Given the description of an element on the screen output the (x, y) to click on. 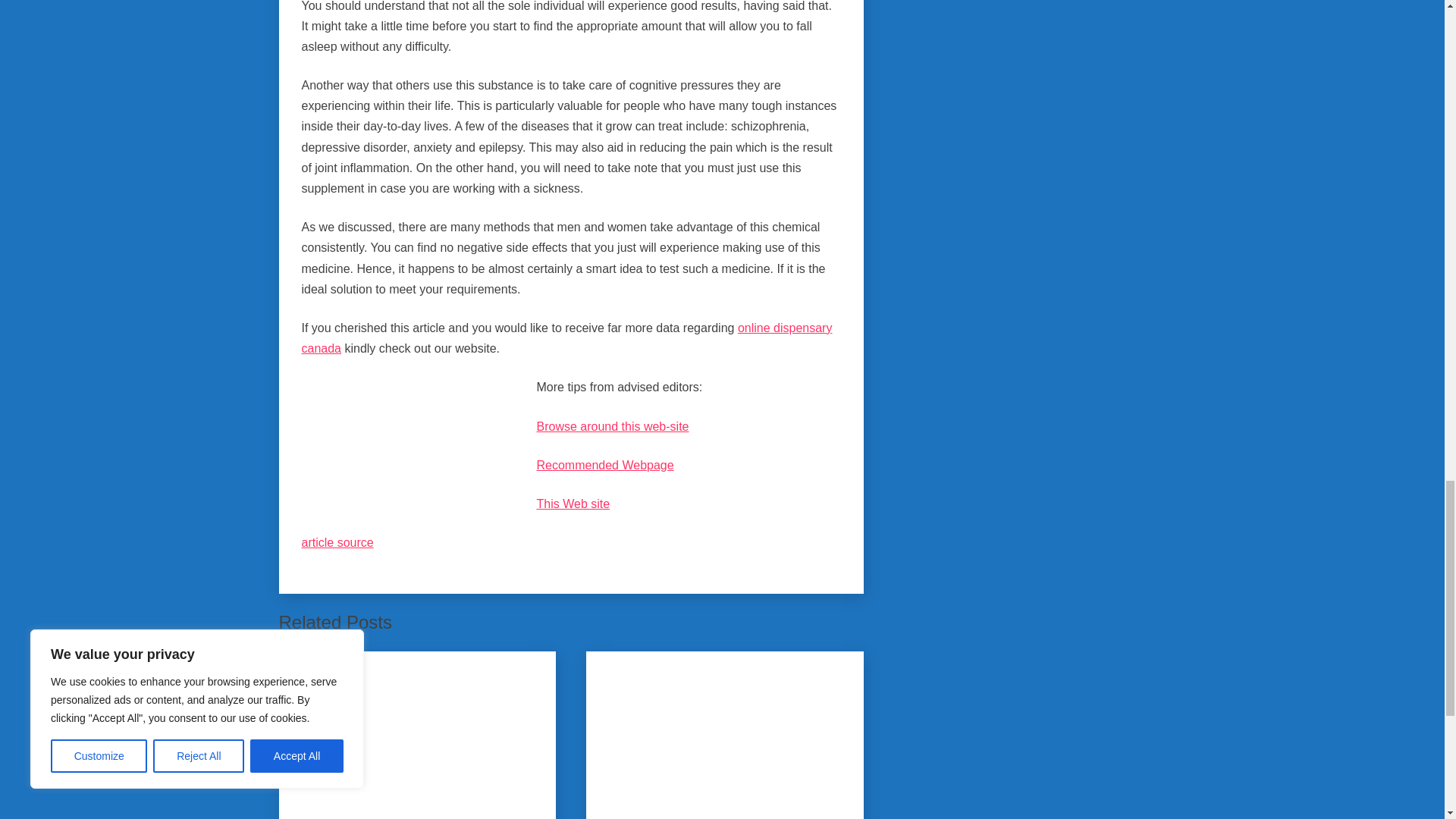
article source (337, 542)
Browse around this web-site (612, 426)
Recommended Webpage (605, 464)
This Web site (573, 503)
online dispensary canada (566, 337)
